Given the description of an element on the screen output the (x, y) to click on. 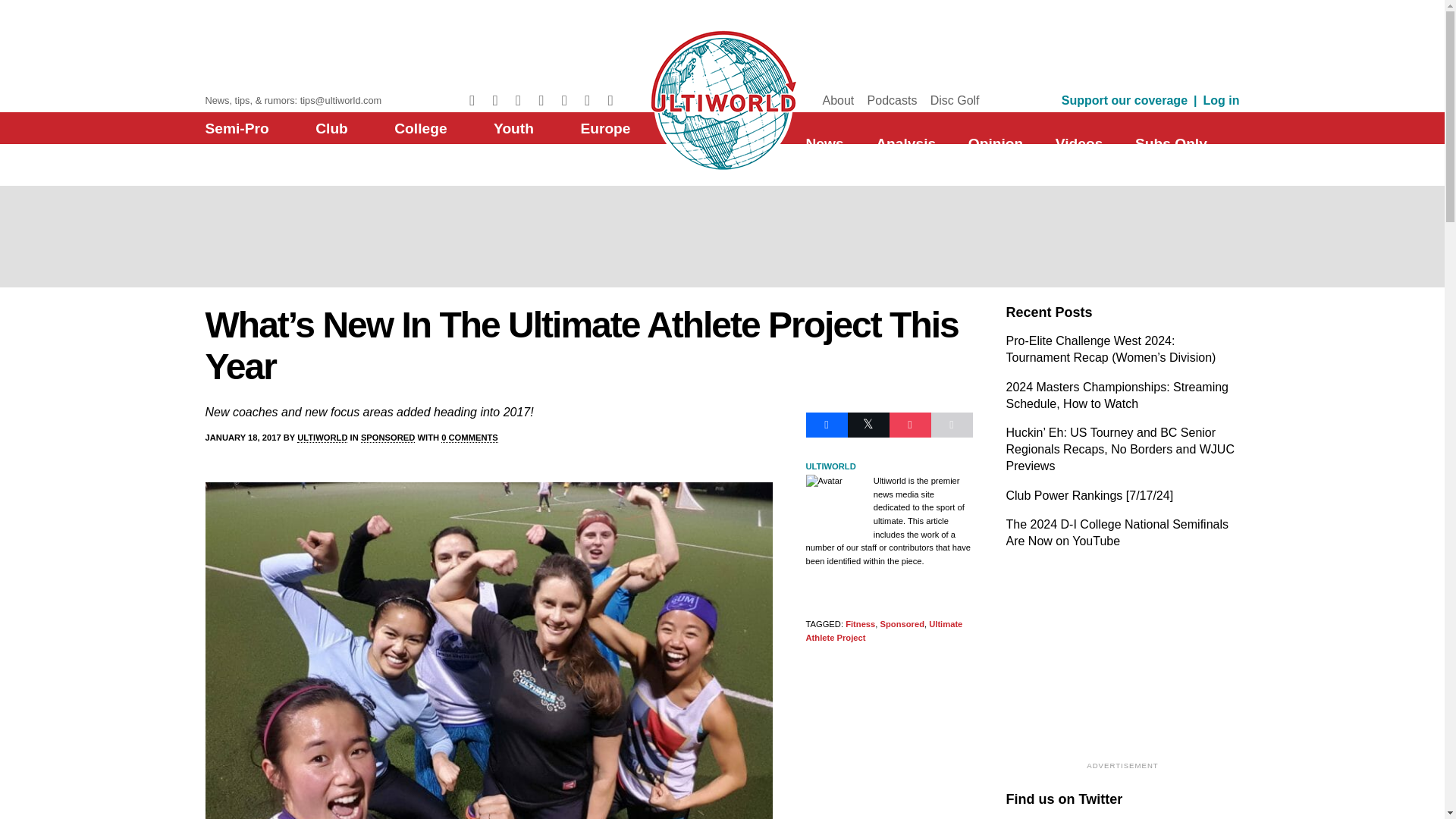
Support our coverage (1124, 100)
Ultiworld (721, 98)
About (837, 100)
Videos (1079, 143)
News (824, 143)
Analysis (906, 143)
Subs Only (1171, 143)
Opinion (995, 143)
Log in (1222, 100)
College (420, 128)
View all posts by Ultiworld (322, 438)
Semi-Pro (236, 128)
Podcasts (892, 100)
Club (331, 128)
Europe (604, 128)
